Given the description of an element on the screen output the (x, y) to click on. 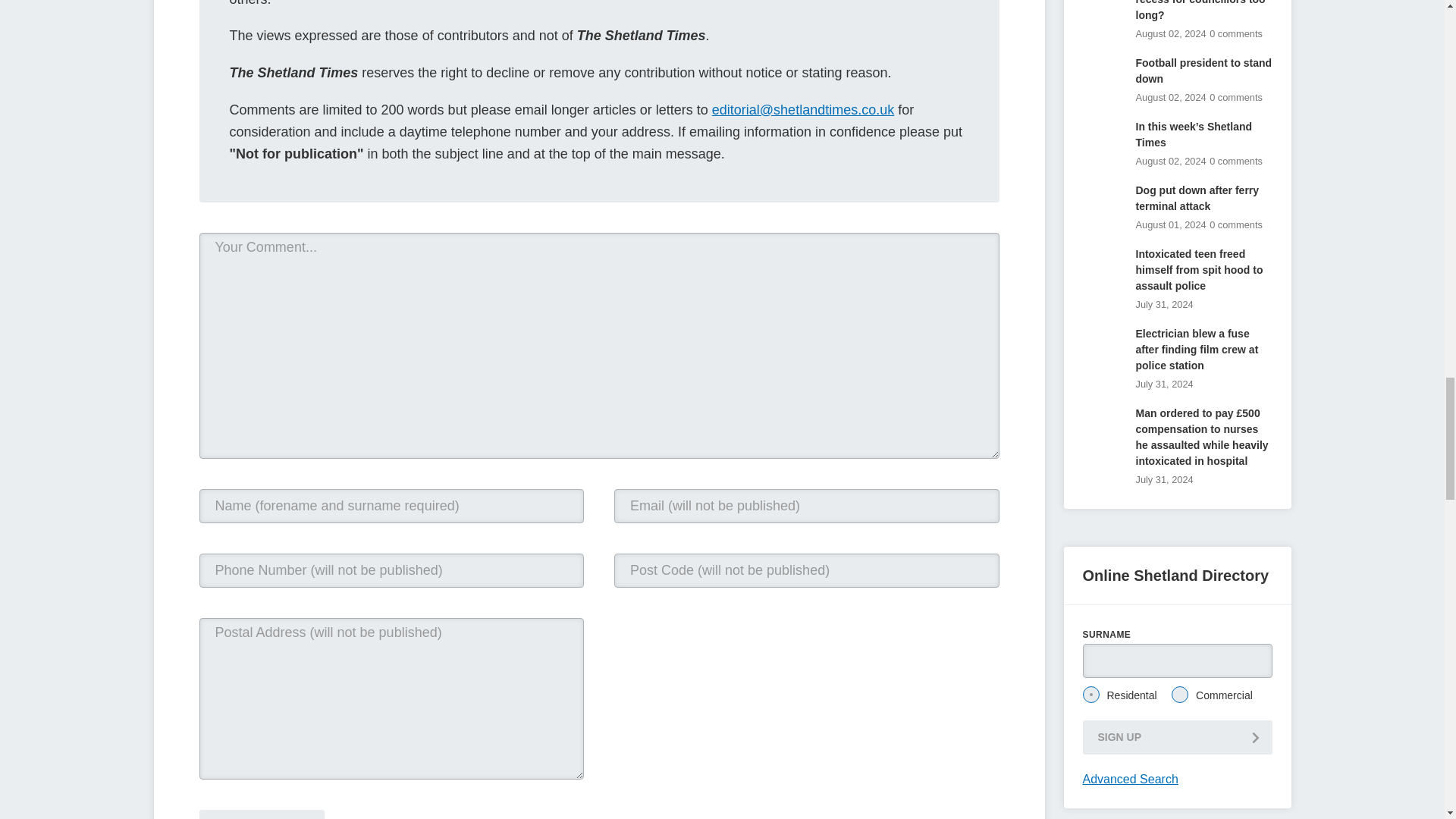
residential (1091, 694)
SEND COMMENT (260, 814)
commercial (1180, 694)
